Given the description of an element on the screen output the (x, y) to click on. 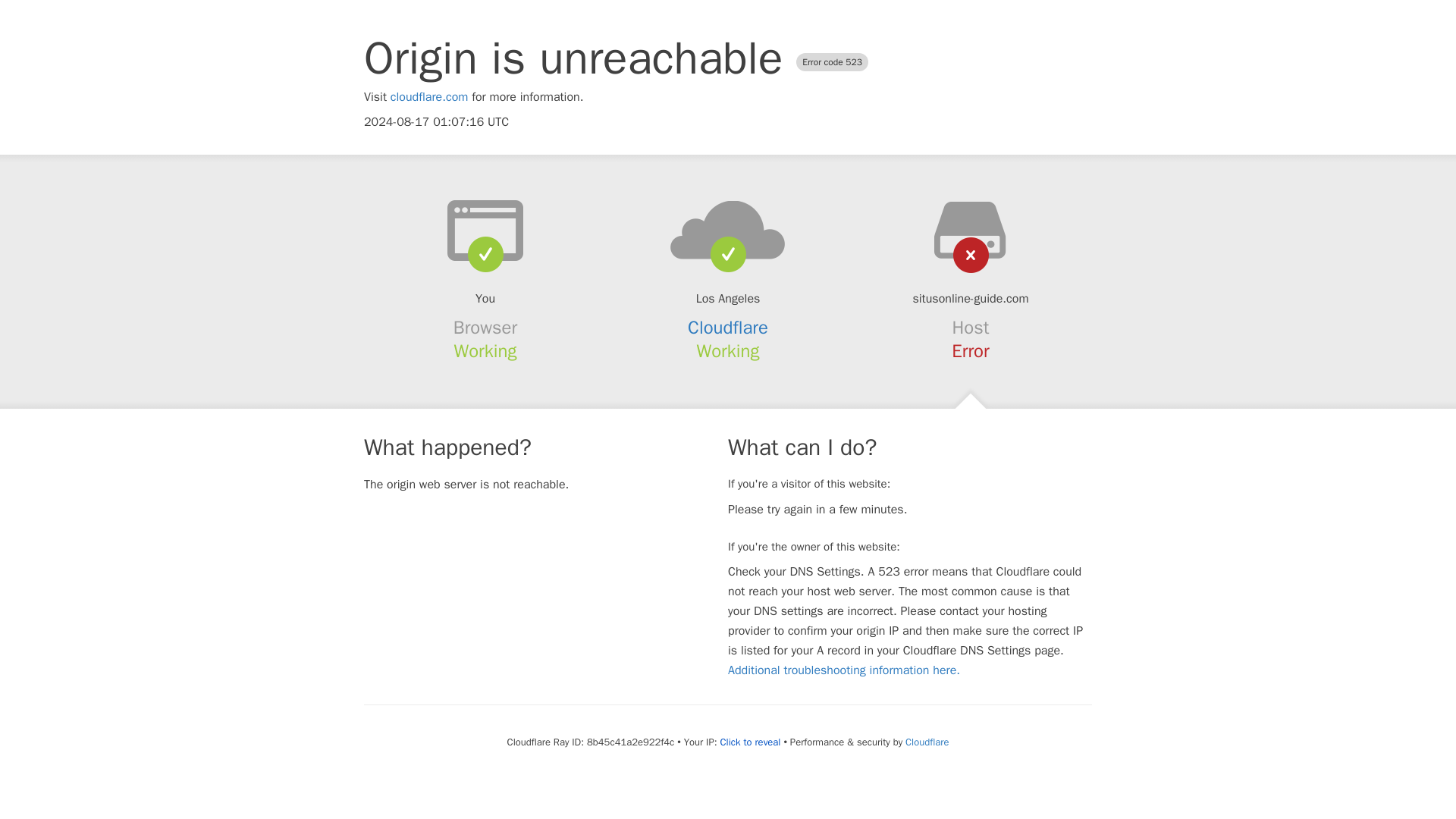
Cloudflare (727, 327)
Additional troubleshooting information here. (843, 670)
cloudflare.com (429, 96)
Cloudflare (927, 741)
Click to reveal (750, 742)
